Given the description of an element on the screen output the (x, y) to click on. 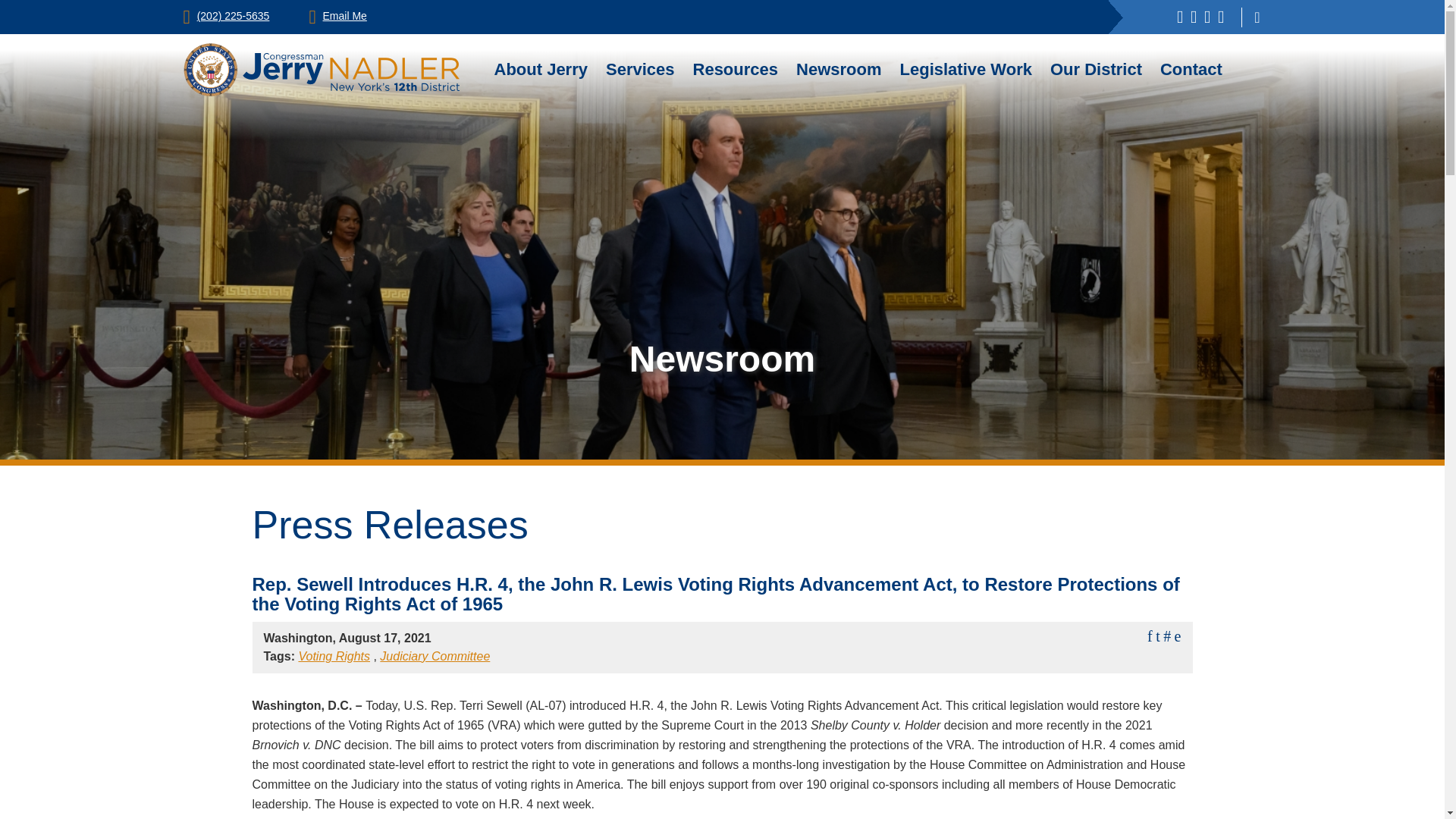
Email Me (337, 15)
Services (640, 69)
Newsroom (838, 69)
Resources (735, 69)
Contact (1191, 69)
About Jerry (541, 69)
Legislative Work (965, 69)
Our District (1095, 69)
